Given the description of an element on the screen output the (x, y) to click on. 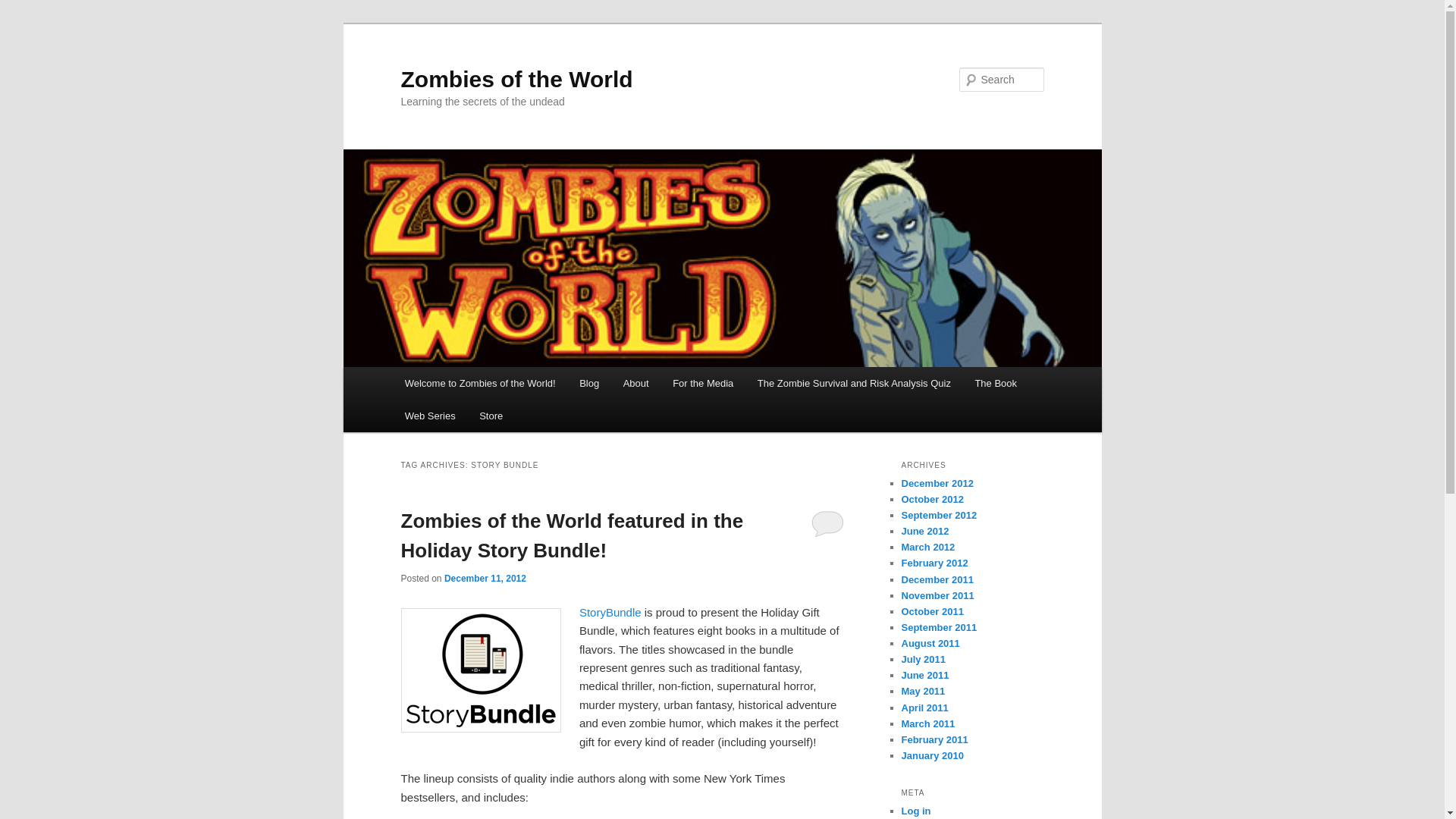
Store (491, 415)
The Zombie Survival and Risk Analysis Quiz (853, 382)
The Book (995, 382)
November 2011 (937, 595)
June 2011 (925, 674)
October 2011 (931, 611)
Welcome to Zombies of the World! (480, 382)
May 2011 (922, 690)
July 2011 (922, 659)
7:17 pm (484, 578)
February 2012 (934, 562)
Blog (589, 382)
June 2012 (925, 531)
Zombies of the World (515, 78)
